Given the description of an element on the screen output the (x, y) to click on. 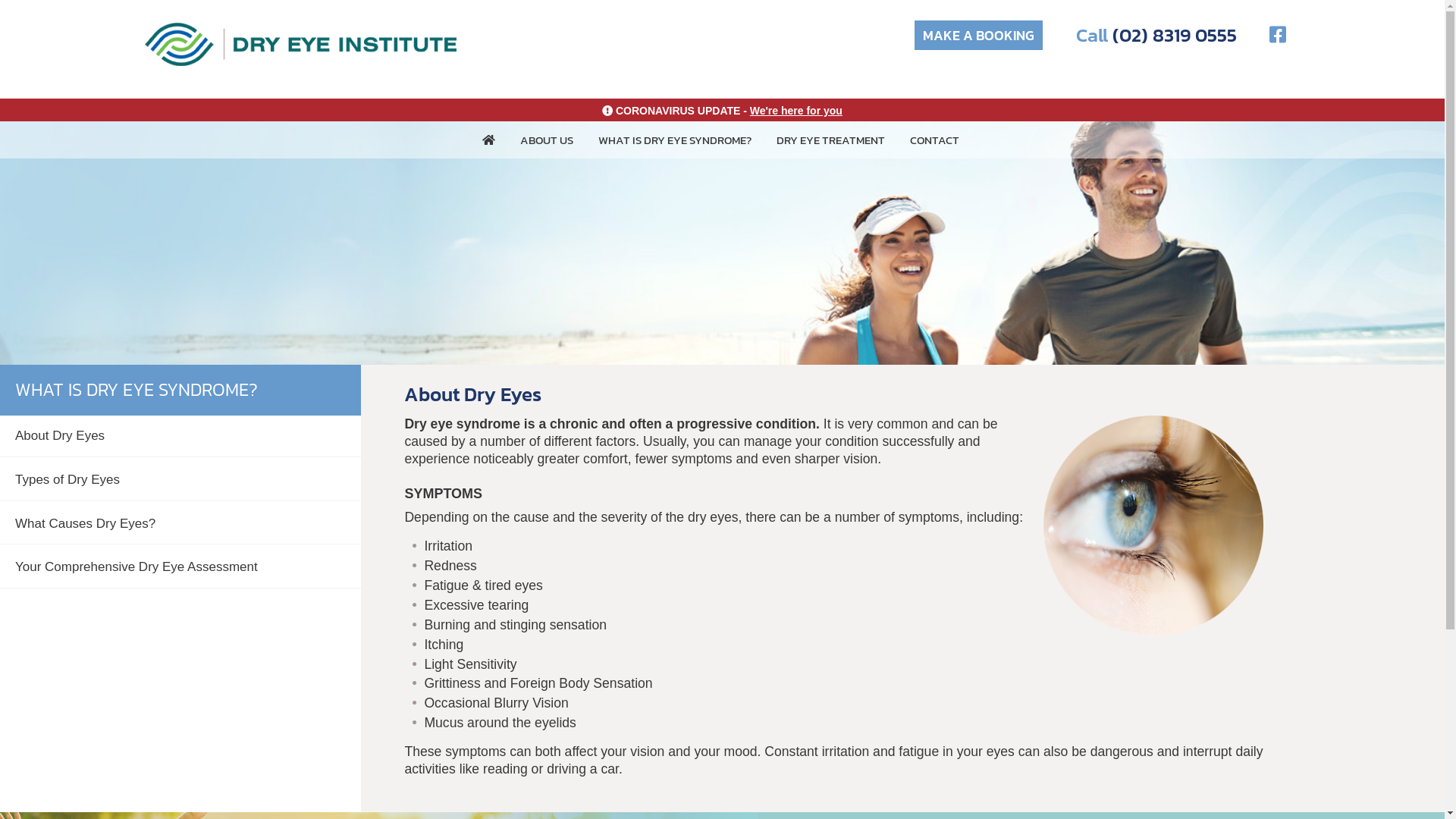
We're here for you Element type: text (795, 110)
WHAT IS DRY EYE SYNDROME? Element type: text (673, 140)
Your Comprehensive Dry Eye Assessment Element type: text (136, 566)
ABOUT US Element type: text (546, 140)
DRY EYE TREATMENT Element type: text (830, 140)
What Causes Dry Eyes? Element type: text (85, 523)
About Dry Eyes Element type: text (59, 435)
CONTACT Element type: text (934, 140)
Dry Eye Institute Element type: hover (299, 43)
(02) 8319 0555 Element type: text (1173, 34)
Types of Dry Eyes Element type: text (67, 479)
MAKE A BOOKING Element type: text (978, 35)
